Given the description of an element on the screen output the (x, y) to click on. 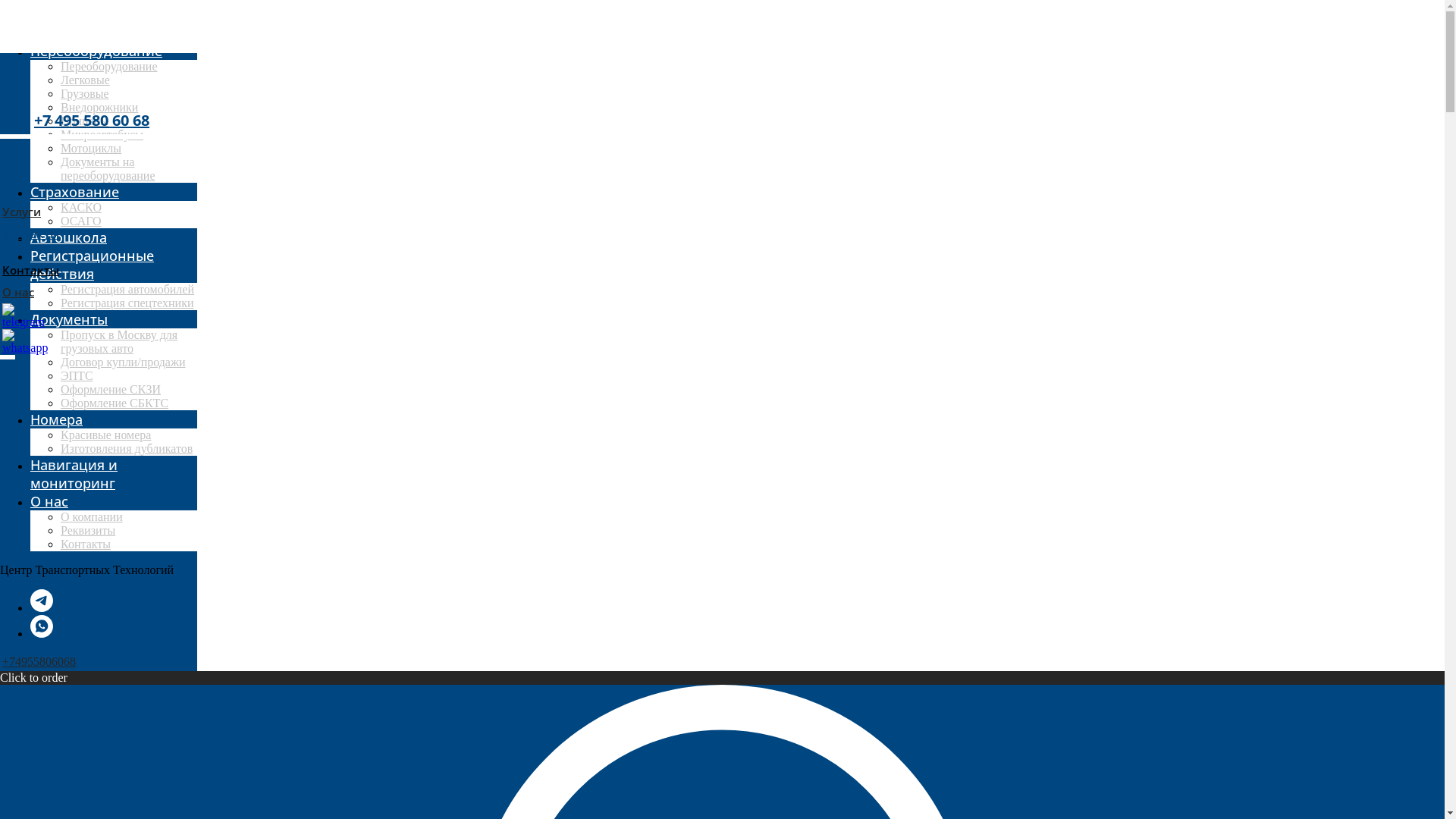
+74955806068 Element type: text (98, 661)
+7 495 580 60 68 Element type: text (91, 119)
